Given the description of an element on the screen output the (x, y) to click on. 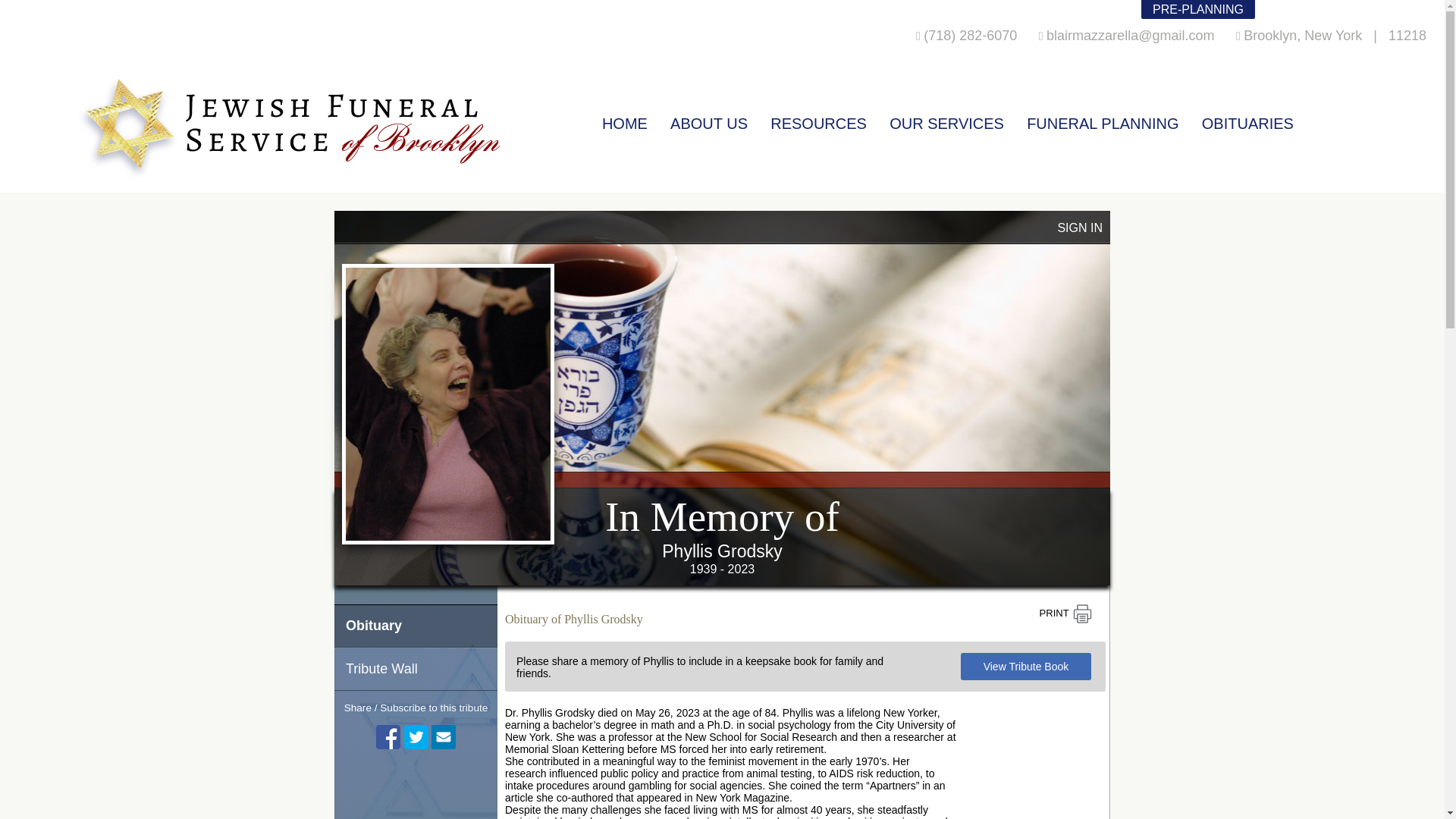
Facebook (387, 736)
HOME (624, 118)
OUR SERVICES (946, 118)
PRE-PLANNING (1198, 9)
SIGN IN (1079, 227)
ABOUT US (708, 118)
OBITUARIES (1247, 118)
RESOURCES (818, 118)
FUNERAL PLANNING (1102, 118)
Obituary (415, 626)
Twitter (415, 736)
Receive Notifications (442, 736)
Print (1065, 614)
Tribute Wall (415, 669)
